Given the description of an element on the screen output the (x, y) to click on. 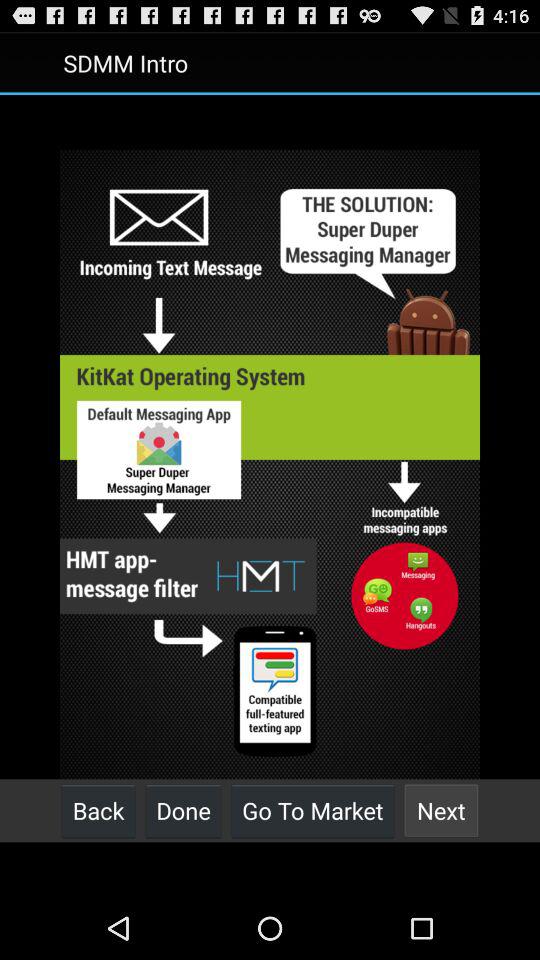
tap button to the right of back item (183, 810)
